Given the description of an element on the screen output the (x, y) to click on. 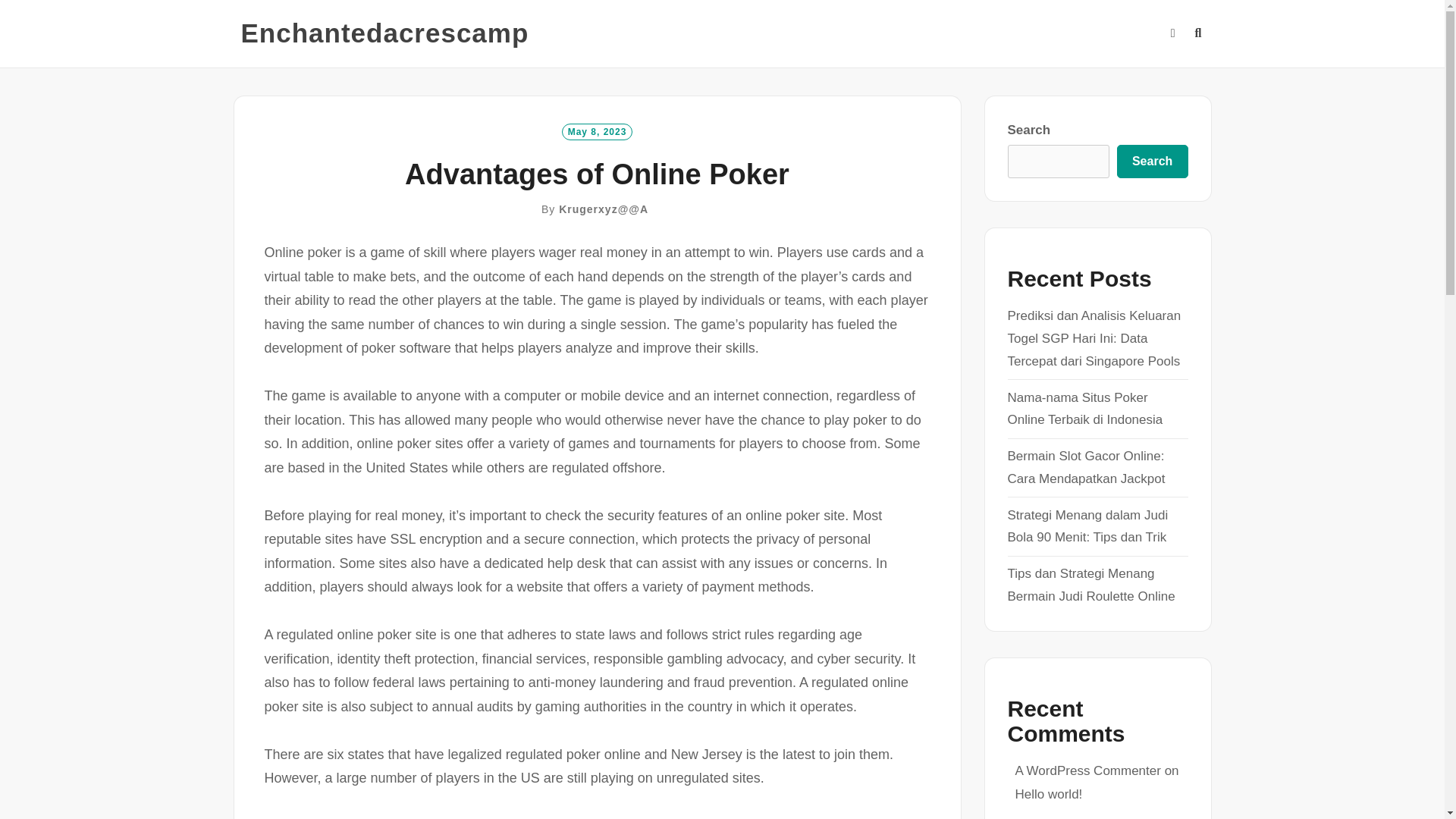
Bermain Slot Gacor Online: Cara Mendapatkan Jackpot (1085, 467)
Strategi Menang dalam Judi Bola 90 Menit: Tips dan Trik (1087, 526)
A WordPress Commenter (1087, 770)
May 8, 2023 (597, 130)
Nama-nama Situs Poker Online Terbaik di Indonesia (1084, 408)
Tips dan Strategi Menang Bermain Judi Roulette Online (1090, 584)
Search (1152, 161)
Enchantedacrescamp (385, 33)
Hello world! (1047, 794)
